Given the description of an element on the screen output the (x, y) to click on. 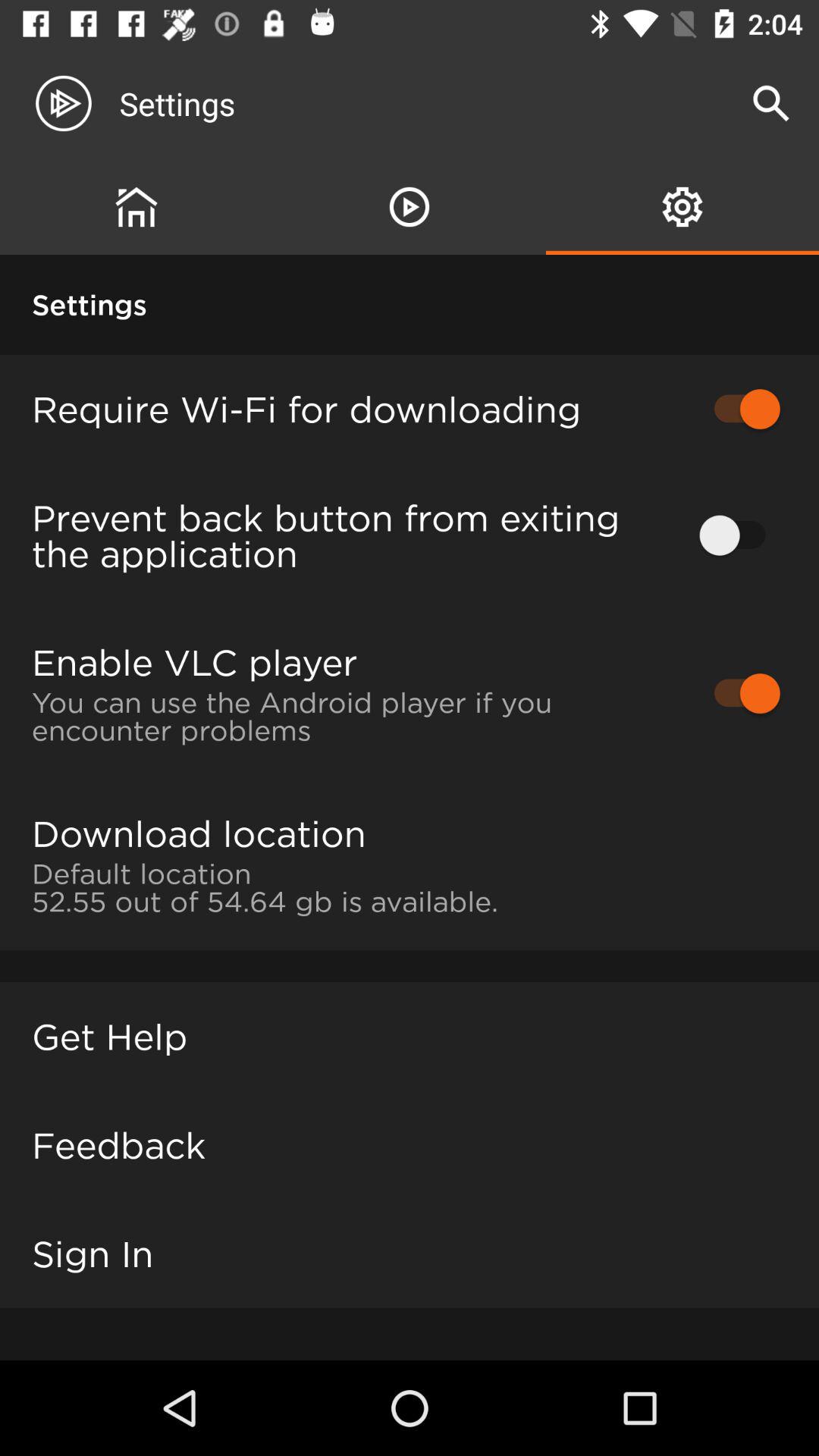
select the item above require wi fi item (409, 206)
